Given the description of an element on the screen output the (x, y) to click on. 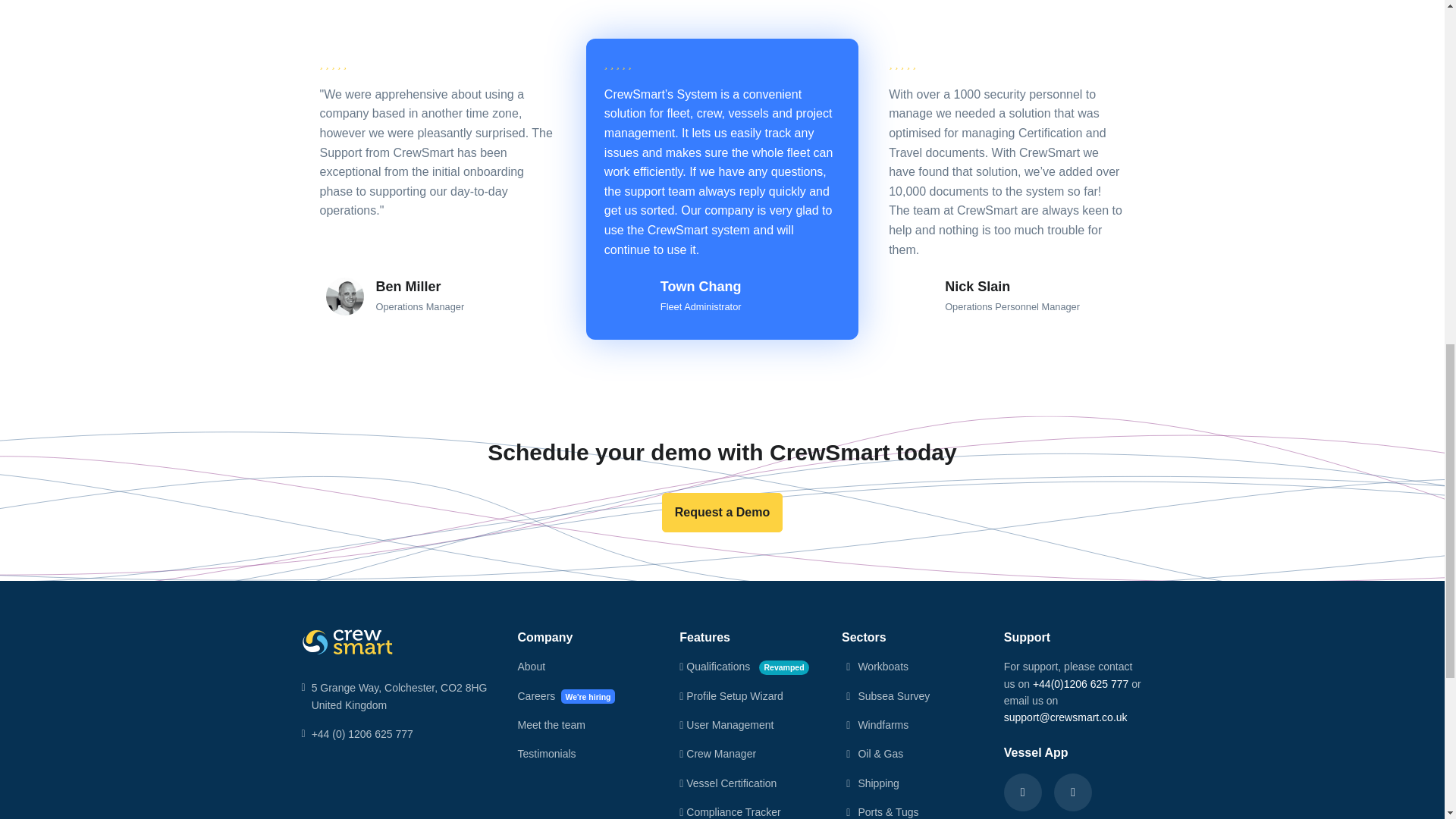
Available on Android for tablets (1073, 792)
Available on iOS for tablets (1023, 792)
